Given the description of an element on the screen output the (x, y) to click on. 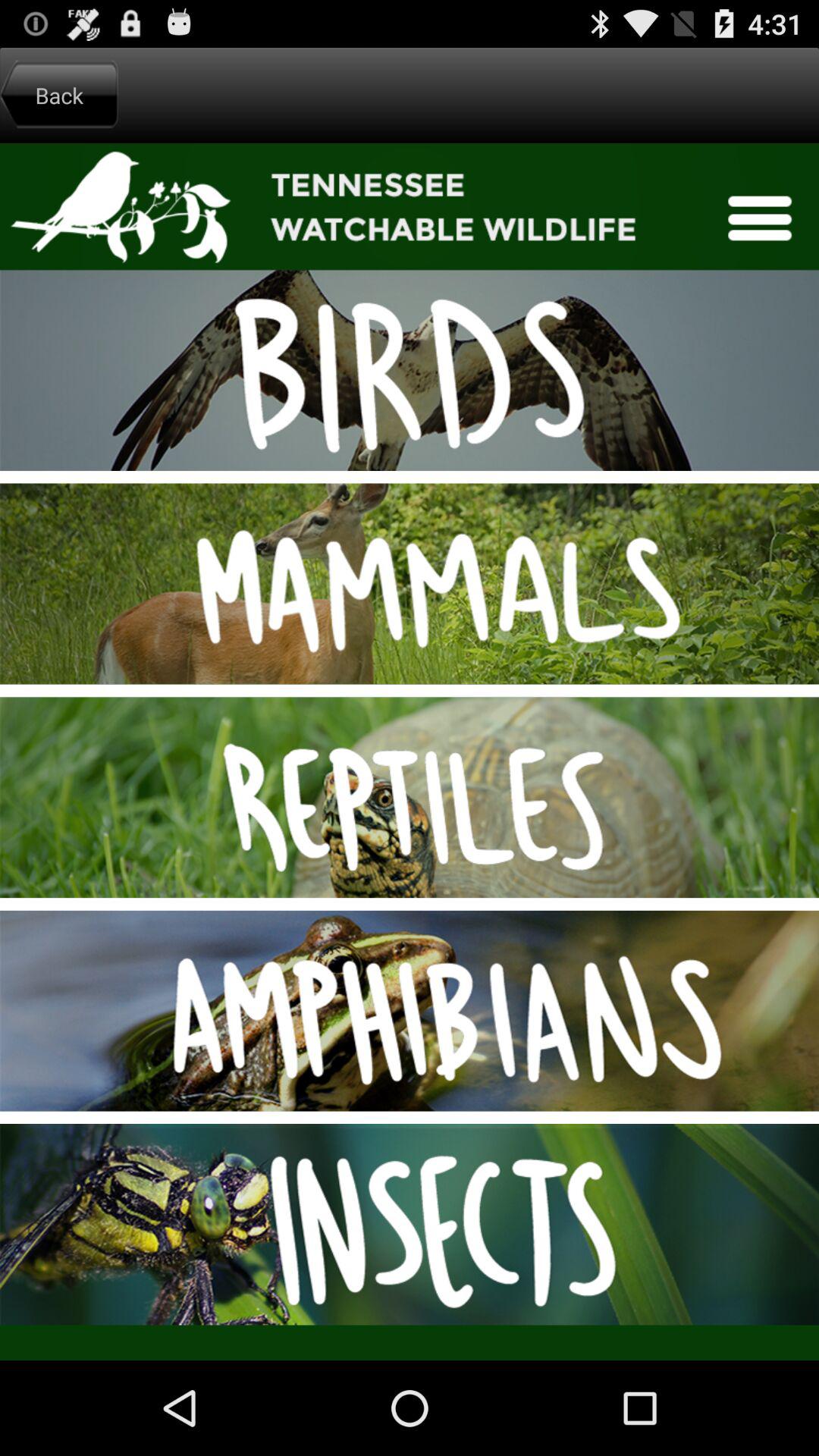
navigate sections of the app (409, 751)
